Given the description of an element on the screen output the (x, y) to click on. 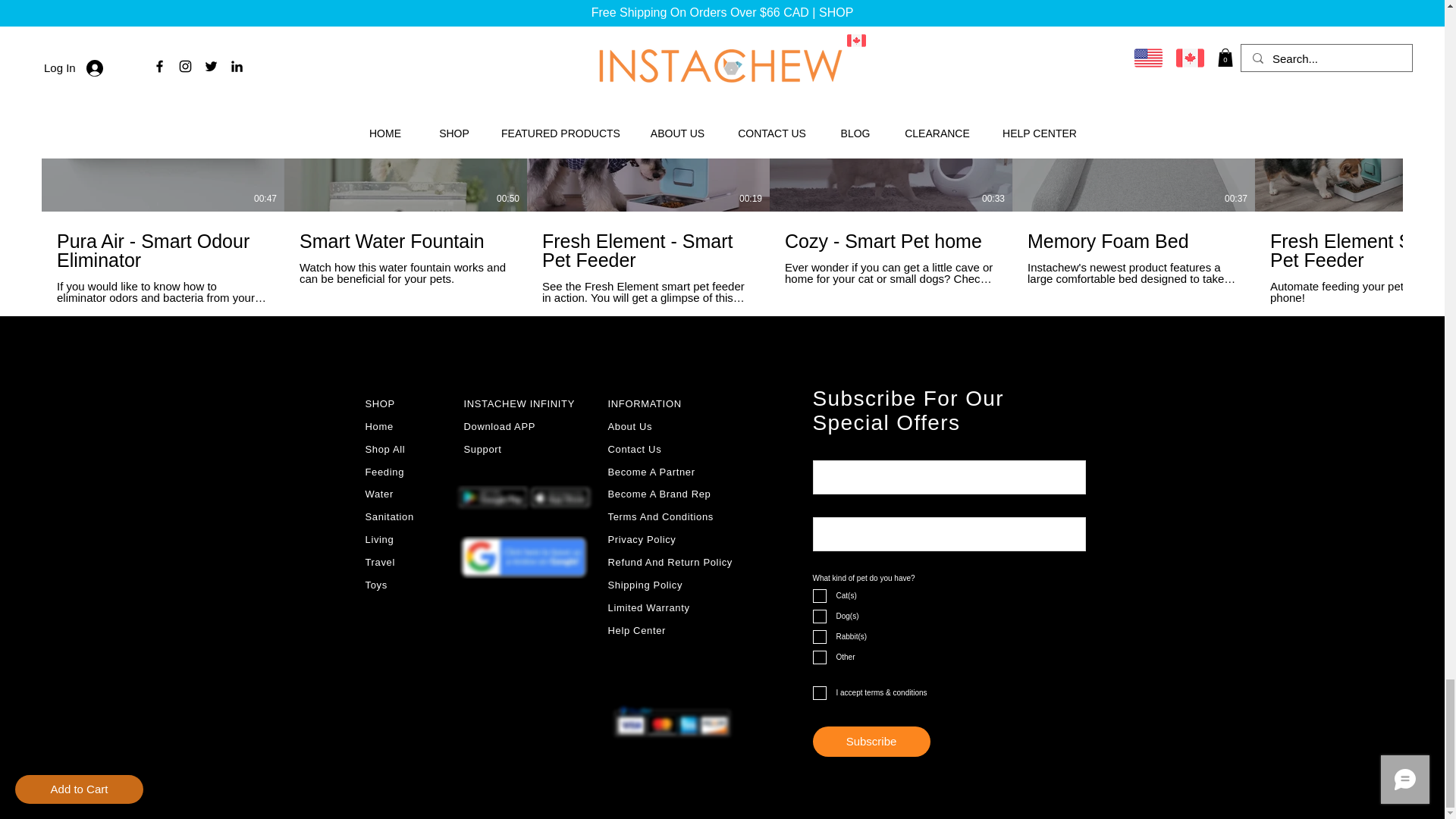
Fresh Element - Smart Pet Feeder (647, 250)
Pura Air - Smart Odour Eliminator (162, 250)
Memory Foam Bed (1133, 241)
Smart Water Fountain (405, 241)
Cozy - Smart Pet home (890, 241)
Google Reviews.png (524, 557)
